Given the description of an element on the screen output the (x, y) to click on. 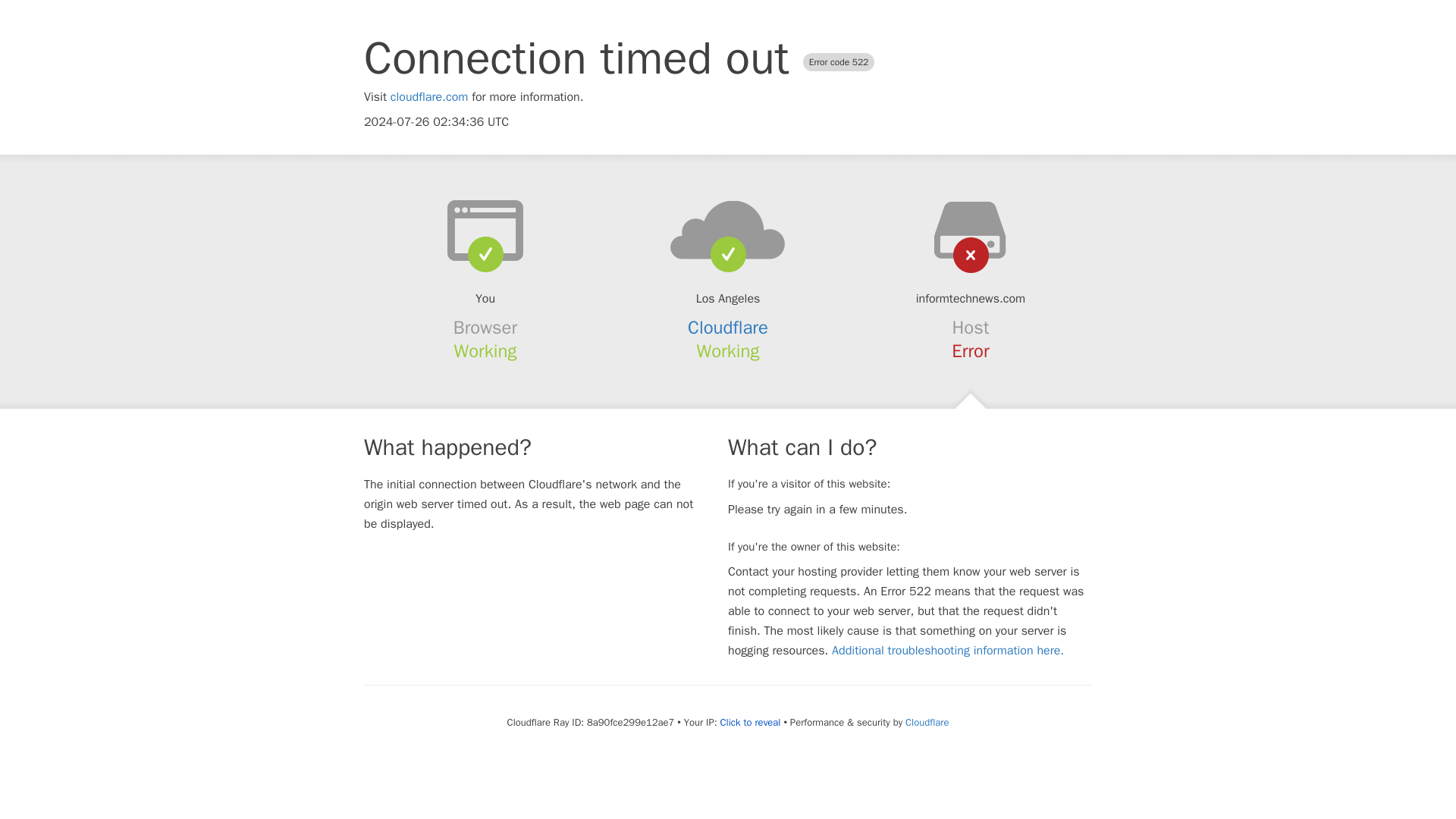
Additional troubleshooting information here. (947, 650)
Cloudflare (927, 721)
cloudflare.com (429, 96)
Click to reveal (750, 722)
Cloudflare (727, 327)
